Given the description of an element on the screen output the (x, y) to click on. 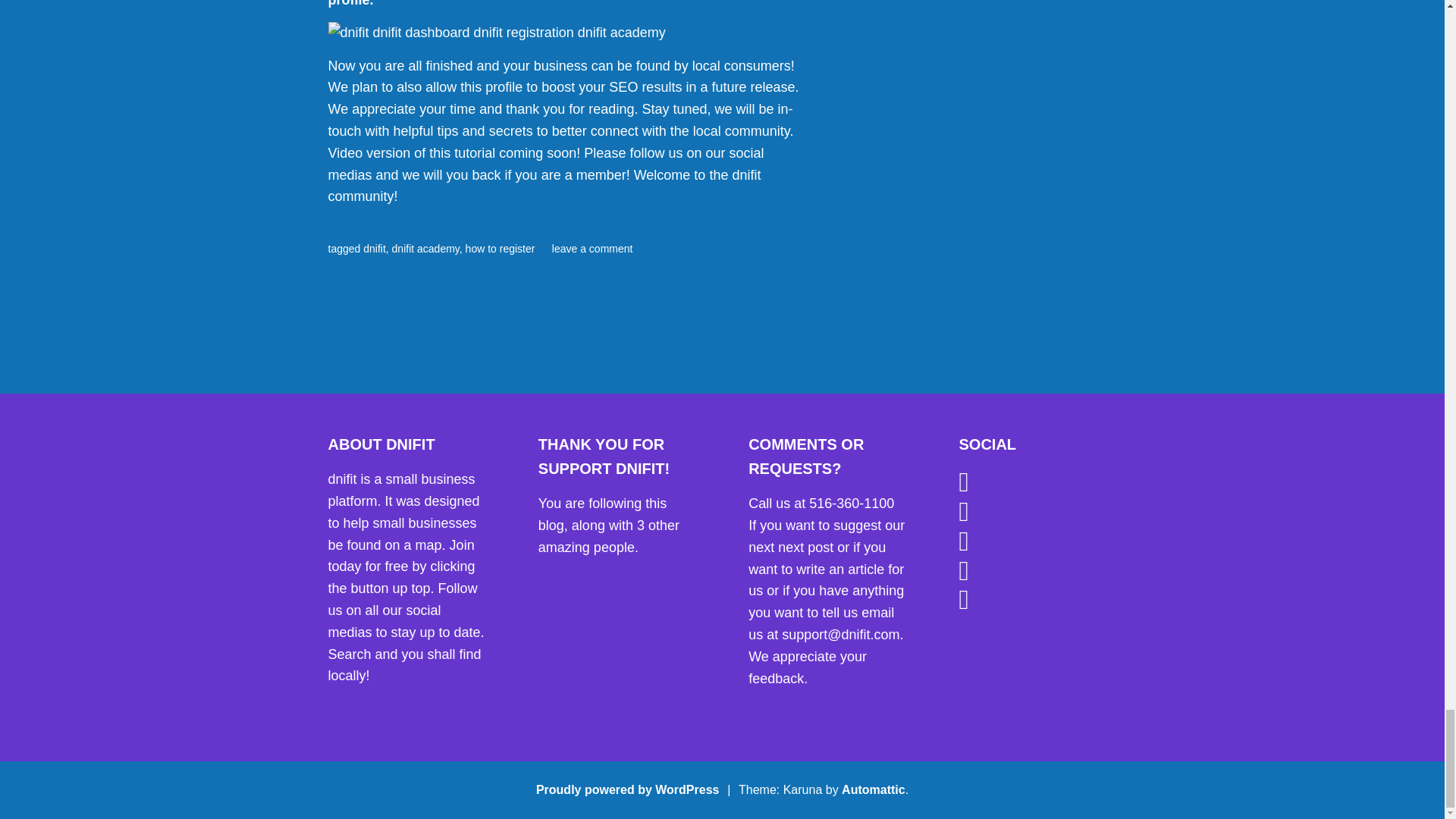
Automattic (873, 789)
dnifit academy (425, 248)
how to register (500, 248)
leave a comment (592, 248)
Proudly powered by WordPress (627, 789)
dnifit (373, 248)
